Given the description of an element on the screen output the (x, y) to click on. 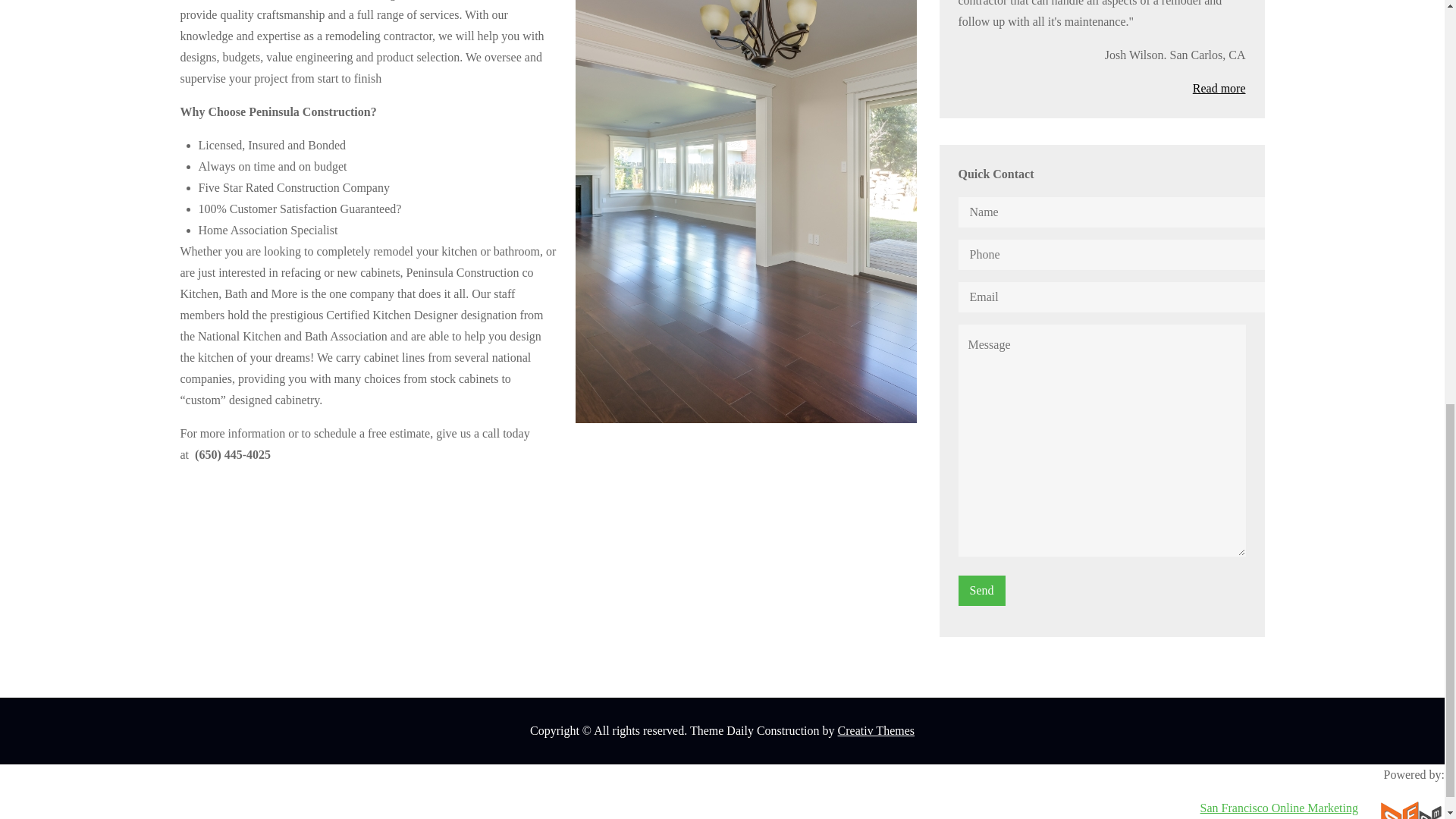
Creativ Themes (876, 729)
Send (982, 589)
Send (982, 589)
Read more (1219, 88)
San Francisco Online Marketing (1278, 807)
